Given the description of an element on the screen output the (x, y) to click on. 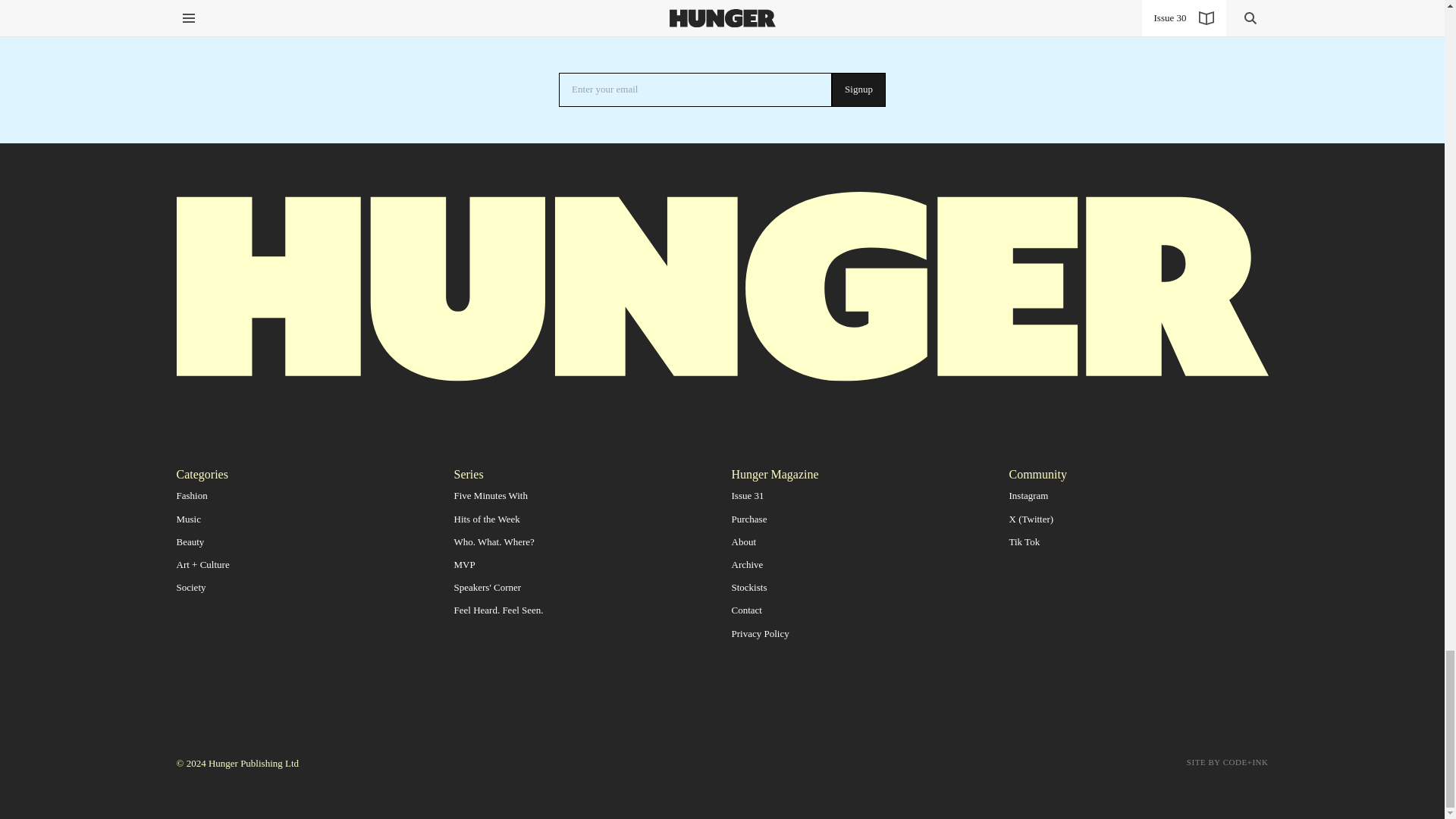
Signup (858, 89)
Beauty (189, 541)
Music (188, 518)
About (742, 541)
Society (190, 586)
Purchase (748, 518)
Speakers' Corner (486, 586)
Who. What. Where? (493, 541)
Five Minutes With (489, 495)
MVP (463, 564)
